Given the description of an element on the screen output the (x, y) to click on. 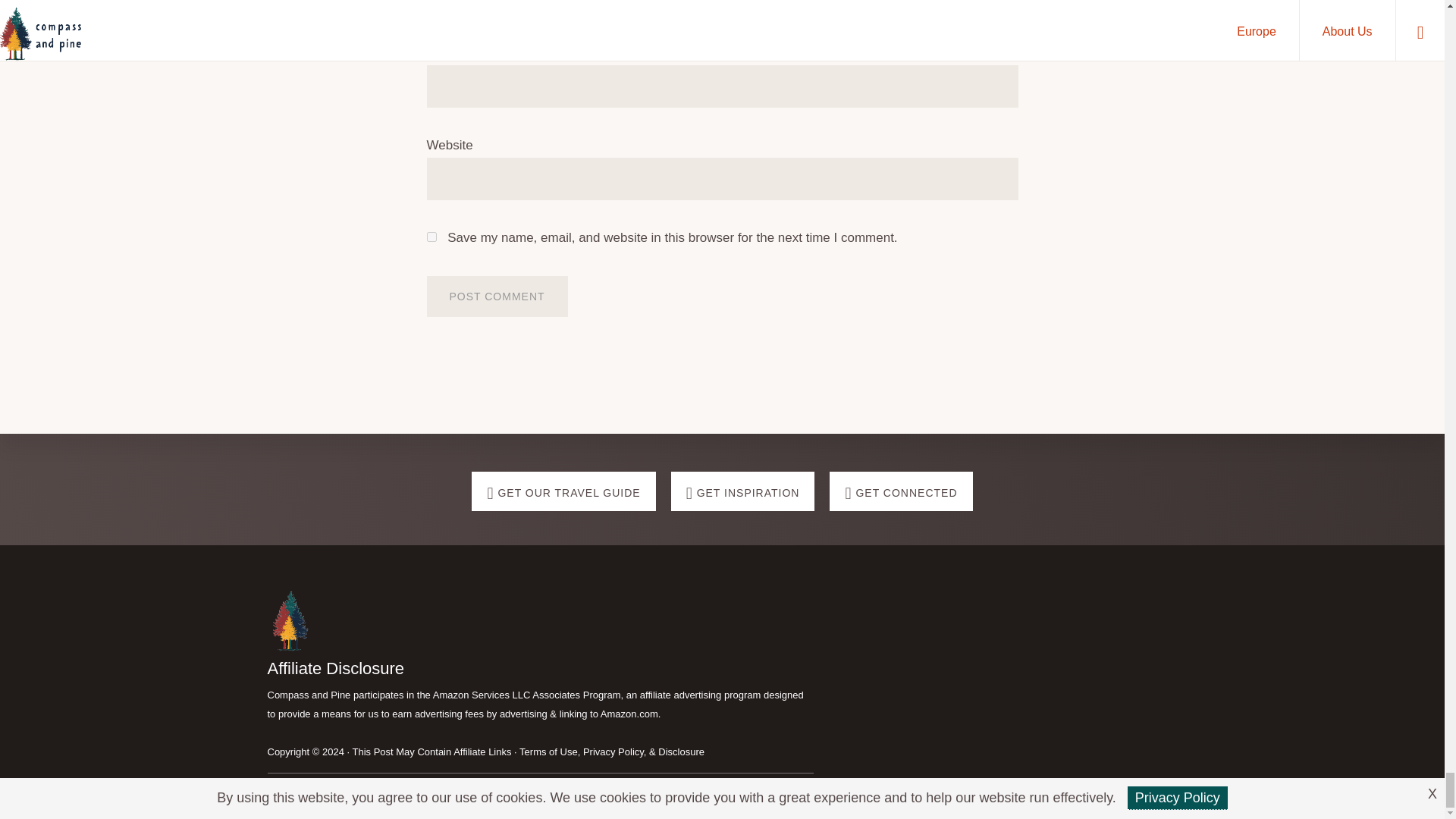
Post Comment (496, 296)
yes (430, 236)
